Given the description of an element on the screen output the (x, y) to click on. 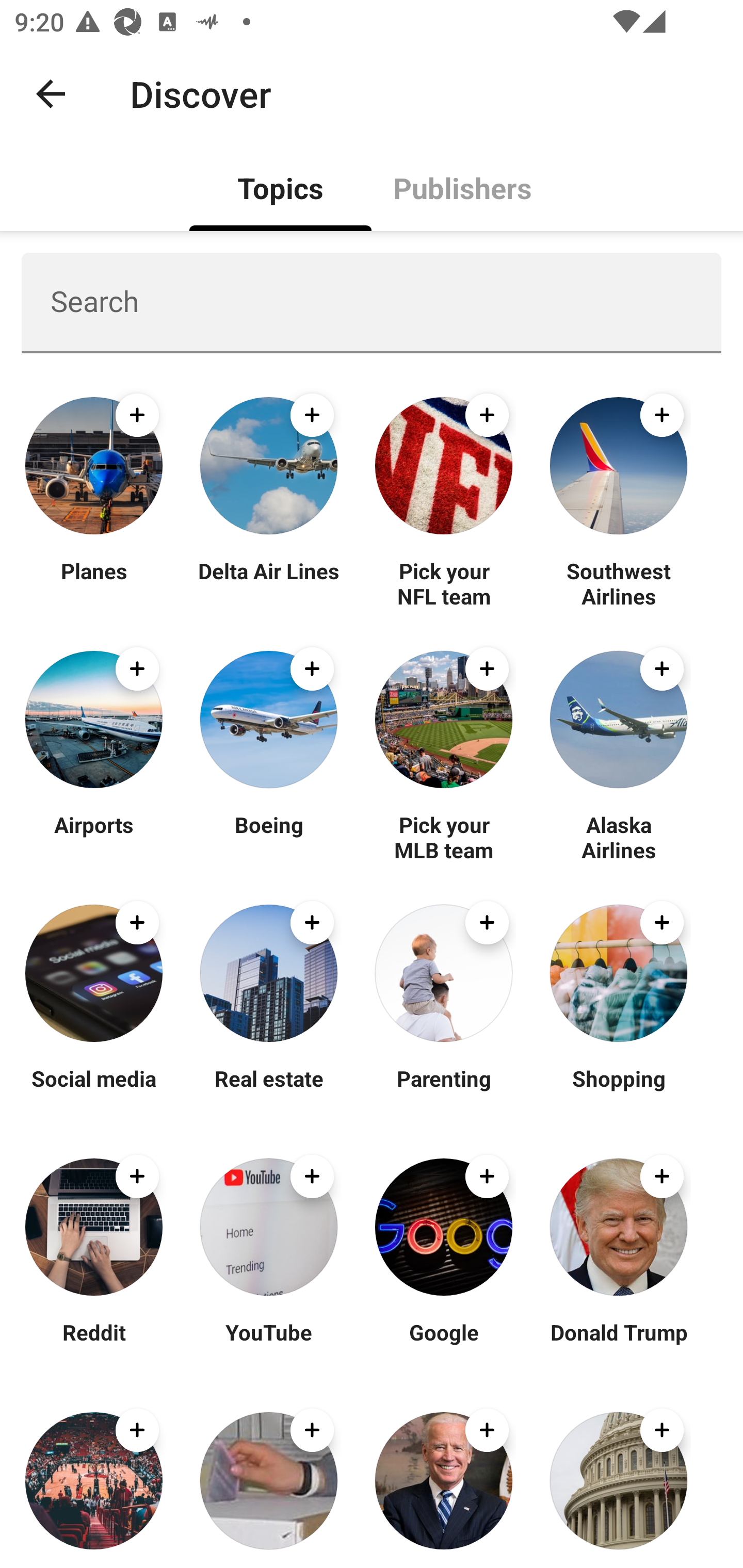
Publishers (462, 187)
Search (371, 302)
Planes (93, 582)
Delta Air Lines (268, 582)
Pick your NFL team (443, 582)
Southwest Airlines (618, 582)
Airports (93, 836)
Boeing (268, 836)
Pick your MLB team (443, 836)
Alaska Airlines (618, 836)
Social media (93, 1090)
Real estate (268, 1090)
Parenting (443, 1090)
Shopping (618, 1090)
Reddit (93, 1344)
YouTube (268, 1344)
Google (443, 1344)
Donald Trump (618, 1344)
